Given the description of an element on the screen output the (x, y) to click on. 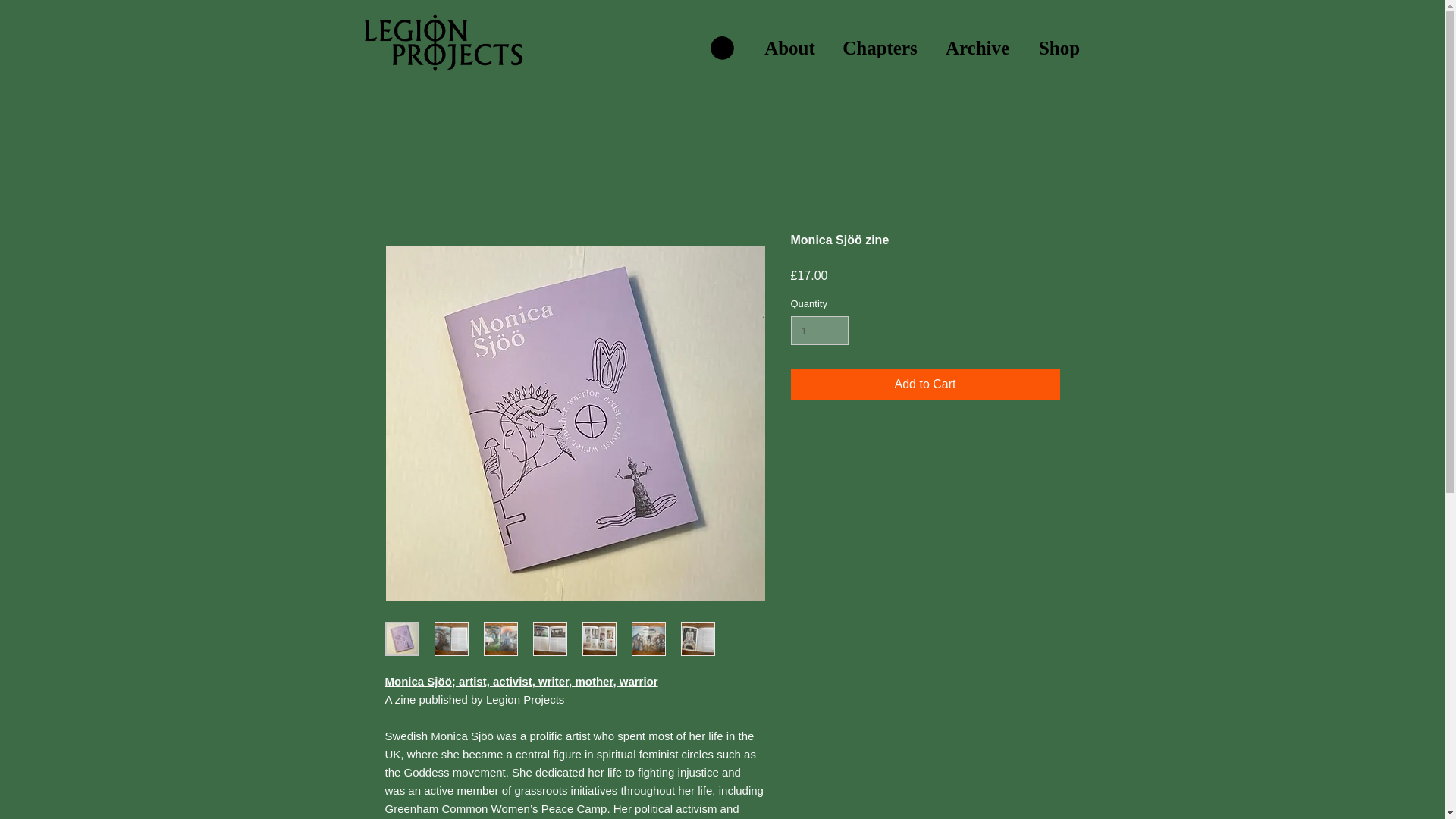
About (789, 48)
Shop (1059, 48)
Archive (977, 48)
Chapters (879, 48)
1 (818, 330)
Add to Cart (924, 384)
